Given the description of an element on the screen output the (x, y) to click on. 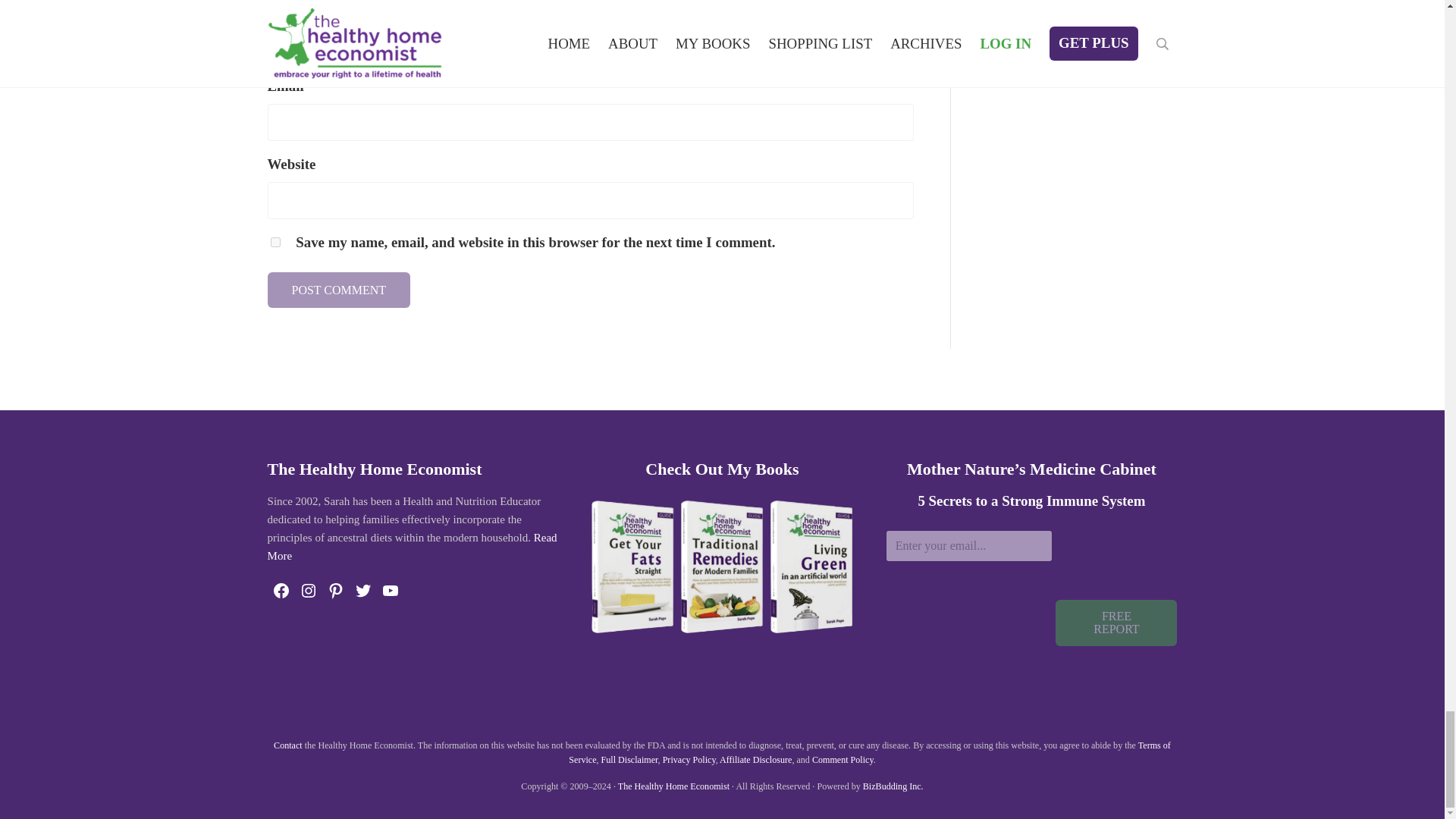
yes (274, 242)
Post Comment (338, 289)
